Given the description of an element on the screen output the (x, y) to click on. 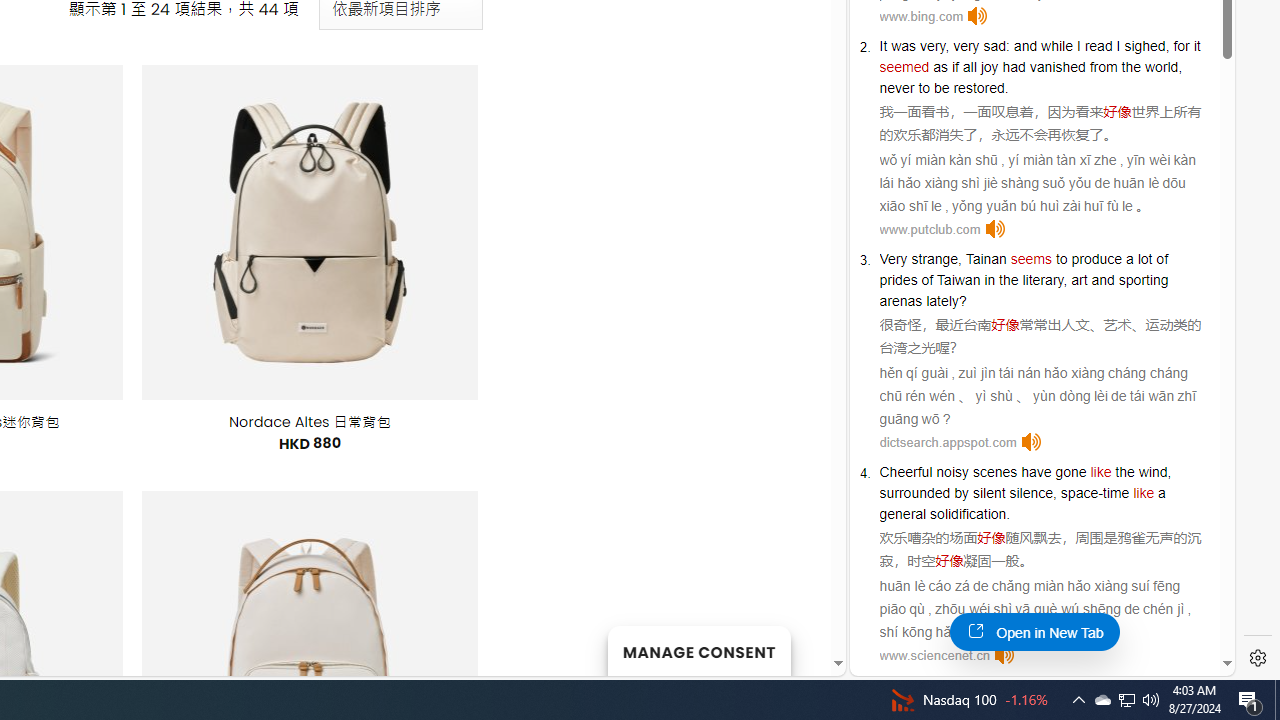
scenes (994, 471)
I (1118, 46)
produce (1096, 259)
